Given the description of an element on the screen output the (x, y) to click on. 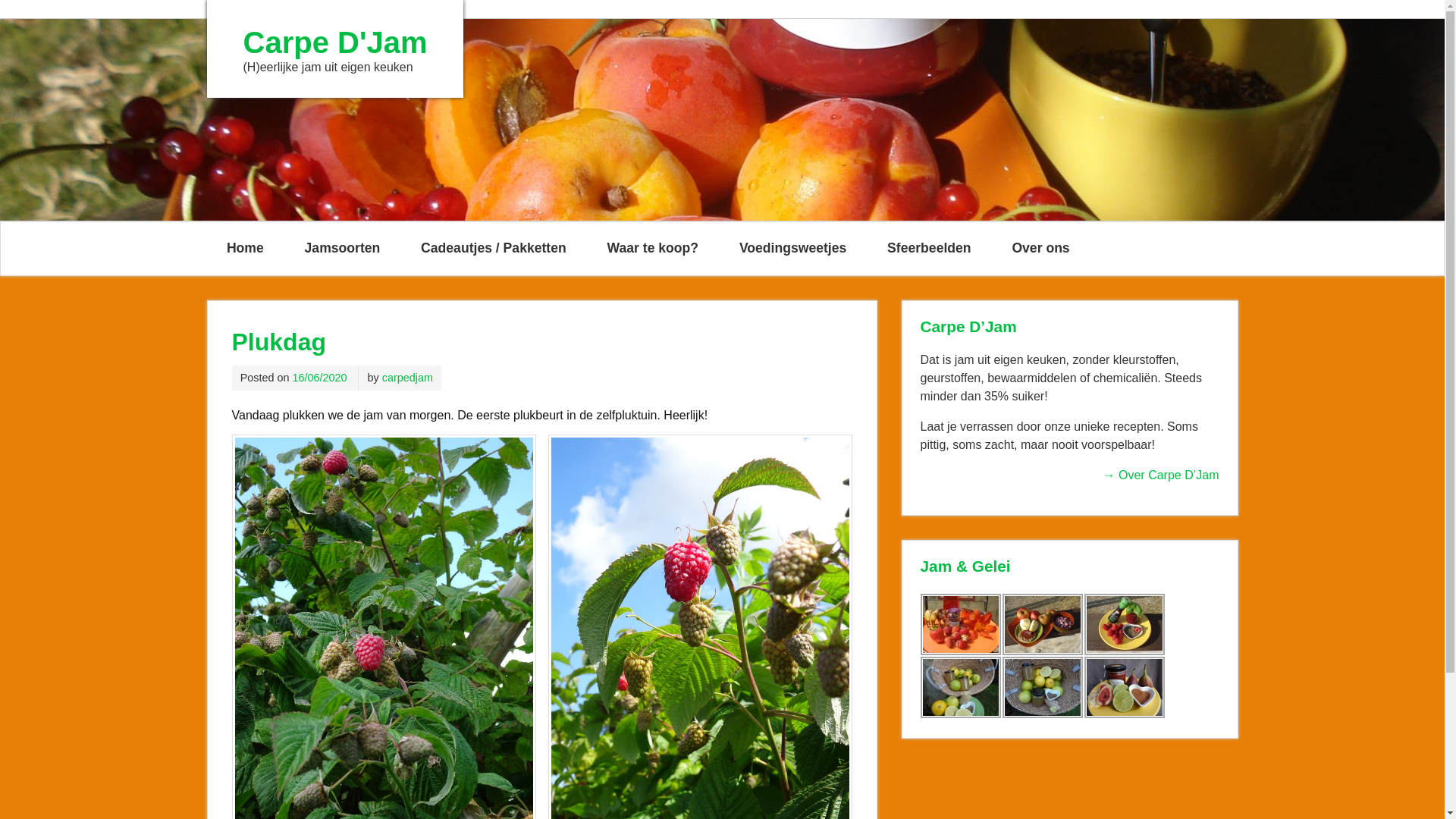
Carpe D'Jam Element type: text (334, 42)
Home Element type: text (244, 248)
ficus-paradisio-scaled Element type: hover (1124, 687)
Cadeautjes / Pakketten Element type: text (493, 248)
Waar te koop? Element type: text (652, 248)
citrus-bergamia-1 Element type: hover (960, 687)
carpedjam Element type: text (407, 377)
citrus-bergamia-2-scaled Element type: hover (1042, 687)
DSC05693 Element type: hover (1124, 624)
Voedingsweetjes Element type: text (792, 248)
aardbei-maroc Element type: hover (960, 624)
appel-rozen01.JPG Element type: hover (1042, 624)
16/06/2020 Element type: text (319, 377)
Over ons Element type: text (1040, 248)
Jamsoorten Element type: text (342, 248)
Sfeerbeelden Element type: text (929, 248)
